Given the description of an element on the screen output the (x, y) to click on. 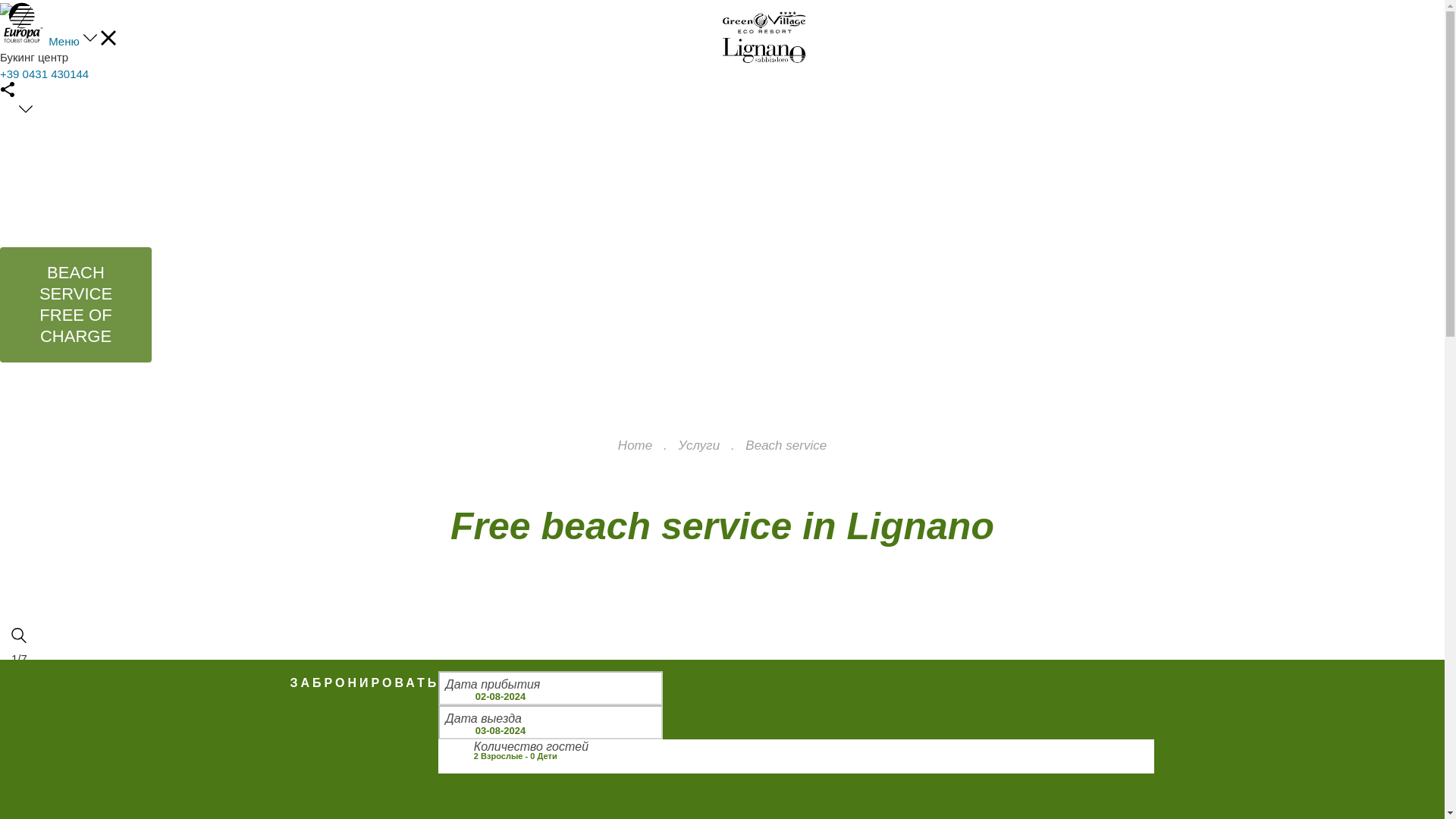
02-08-2024 (550, 687)
03-08-2024 (550, 722)
